Given the description of an element on the screen output the (x, y) to click on. 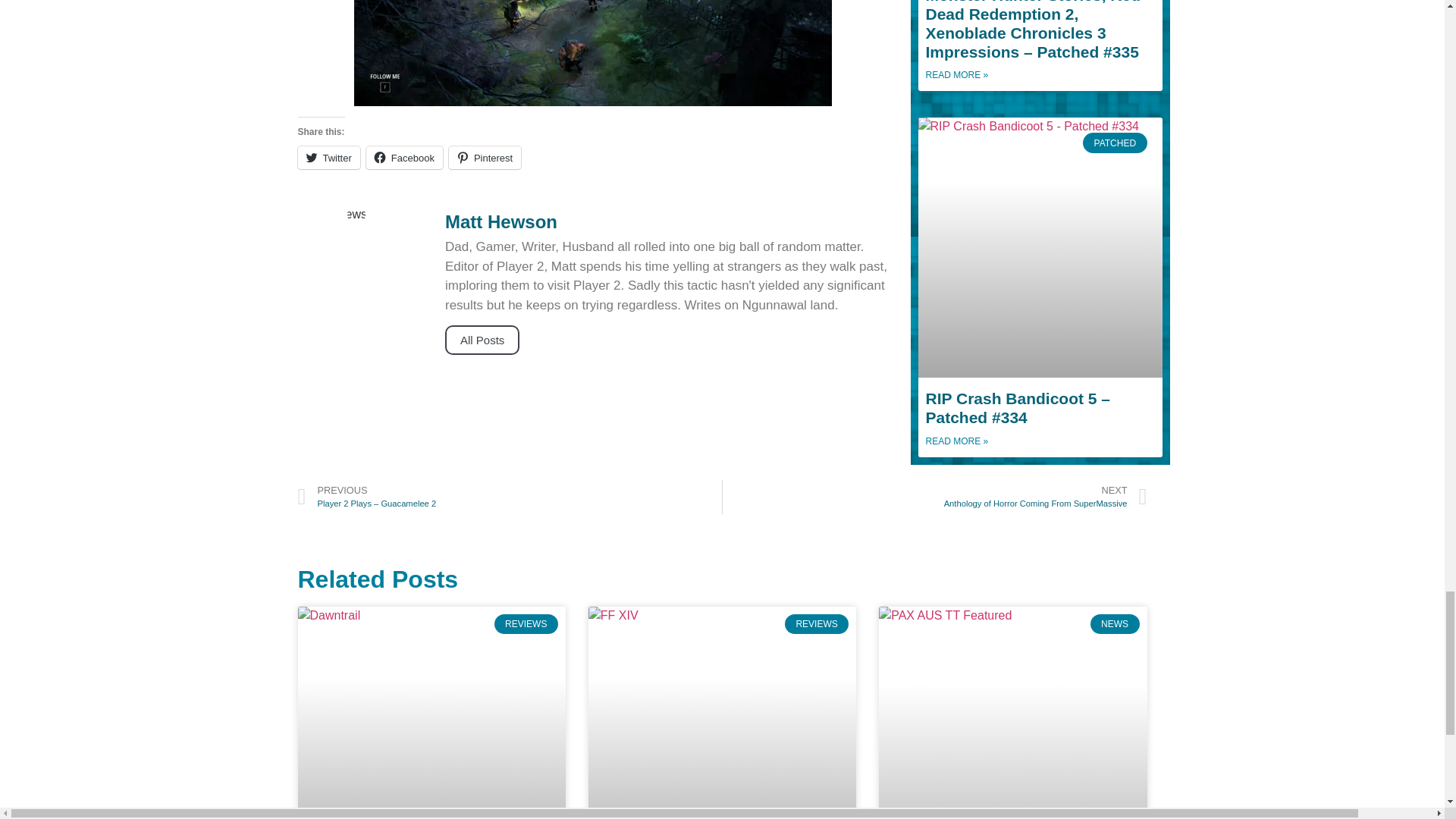
A Talking Duck, Armoured Pig and Rock-Human Walk Into A Bar (592, 53)
Click to share on Twitter (328, 157)
Click to share on Facebook (404, 157)
Click to share on Pinterest (484, 157)
